Given the description of an element on the screen output the (x, y) to click on. 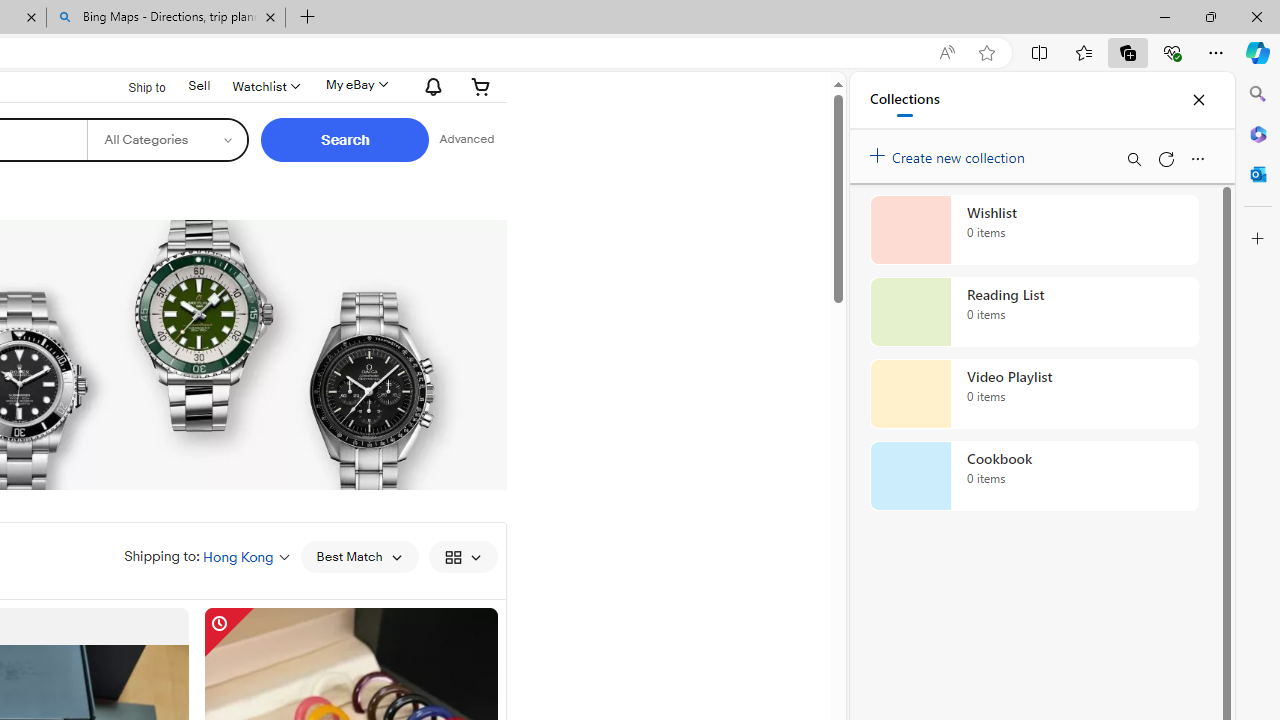
My eBay (354, 84)
Expand Cart (481, 86)
Reading List collection, 0 items (1034, 312)
Notifications (427, 87)
AutomationID: gh-eb-Alerts (430, 87)
My eBayExpand My eBay (354, 84)
